Given the description of an element on the screen output the (x, y) to click on. 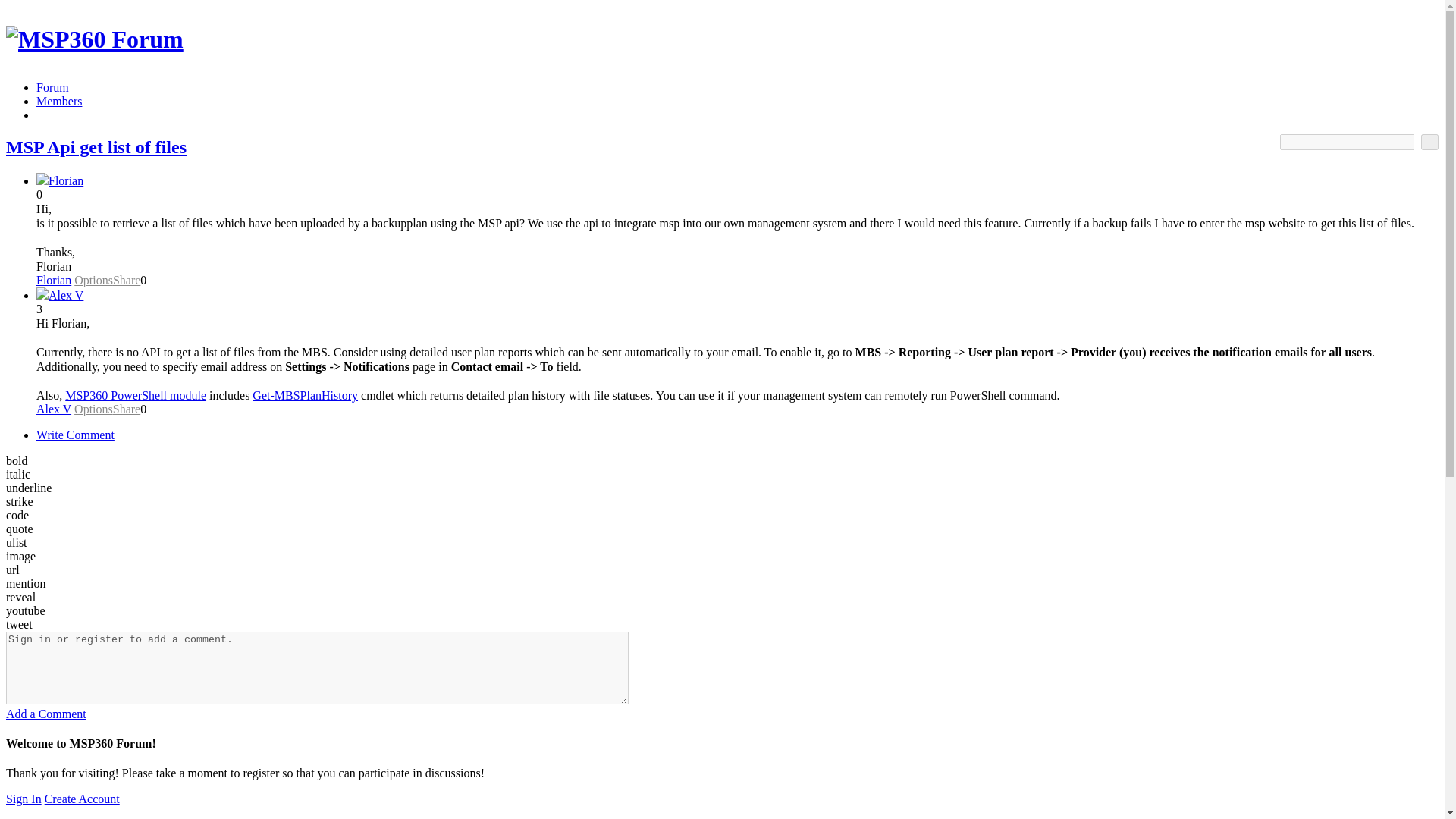
Share (126, 408)
Share (126, 279)
MSP Api get list of files (95, 147)
Alex V (42, 295)
Write Comment (75, 434)
Options (93, 408)
Create Account (82, 798)
Florian (42, 180)
Members (58, 101)
Share (126, 279)
Alex V (65, 295)
Sign In (23, 798)
Get-MBSPlanHistory (304, 395)
Add a Comment (45, 713)
